Given the description of an element on the screen output the (x, y) to click on. 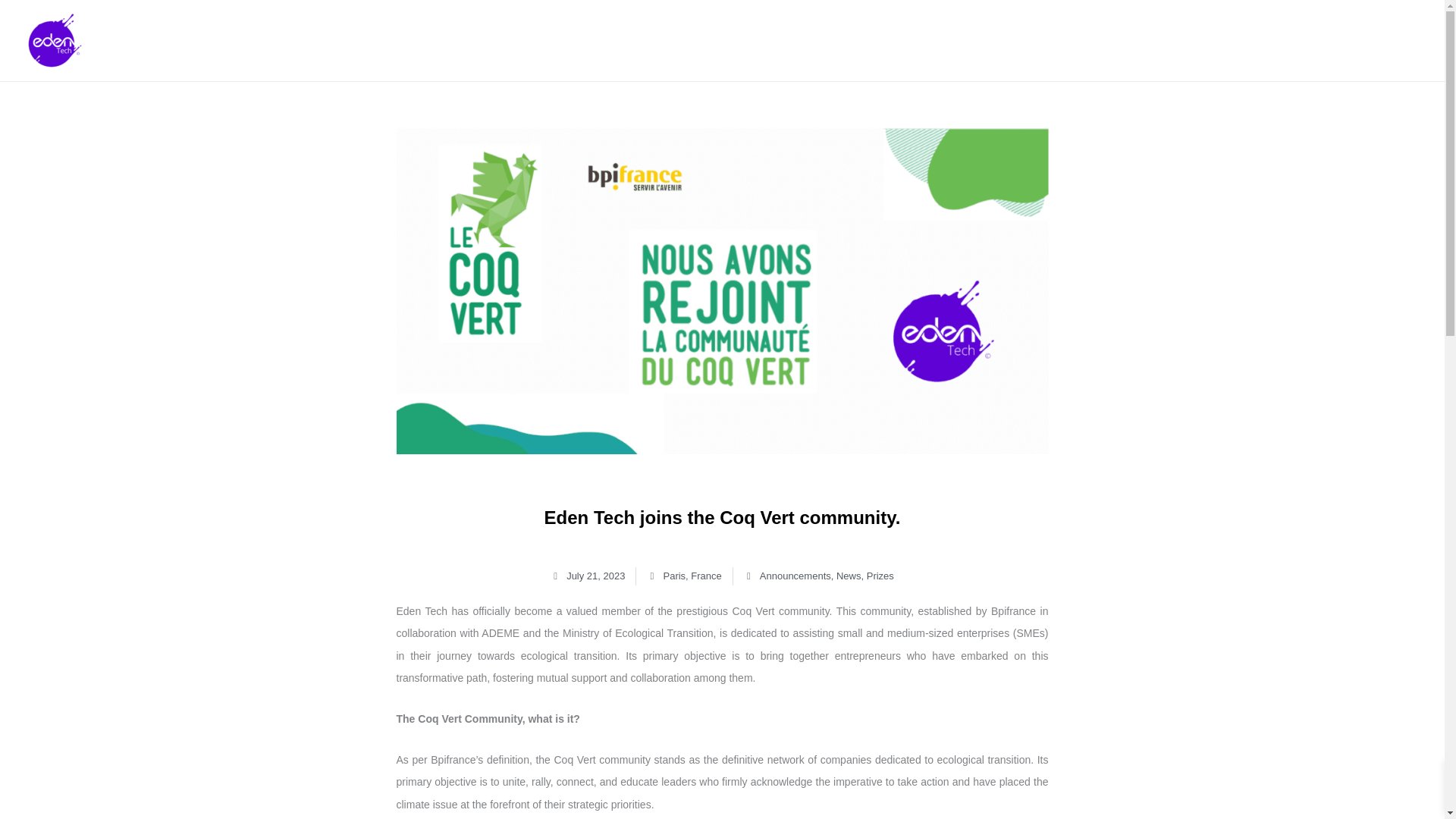
PROJECTS (1150, 39)
EDEN MATERIALS (1025, 39)
EDEN TECH (1348, 39)
CONTACT (1247, 39)
